Given the description of an element on the screen output the (x, y) to click on. 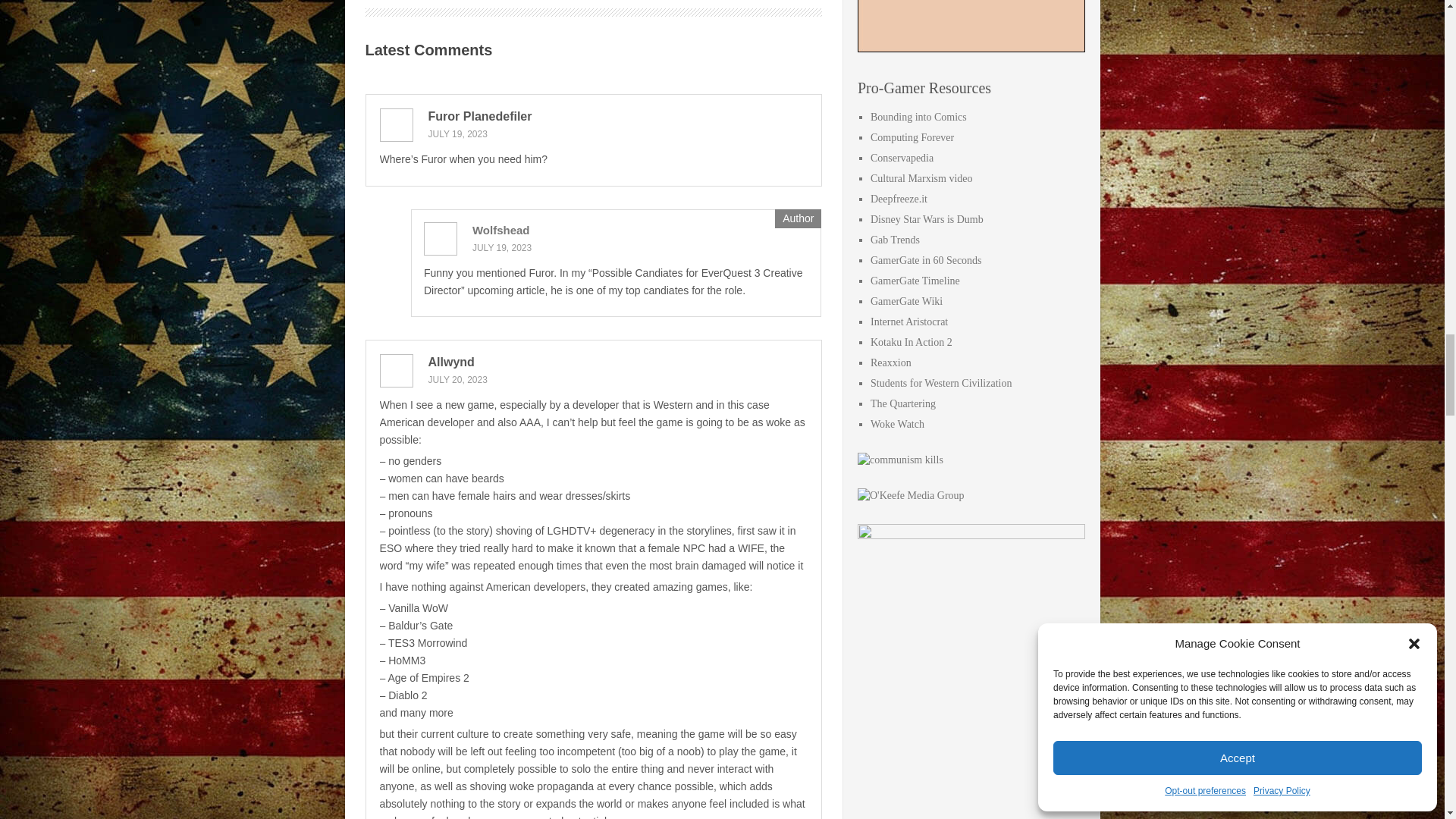
Wolfshead (500, 229)
